Given the description of an element on the screen output the (x, y) to click on. 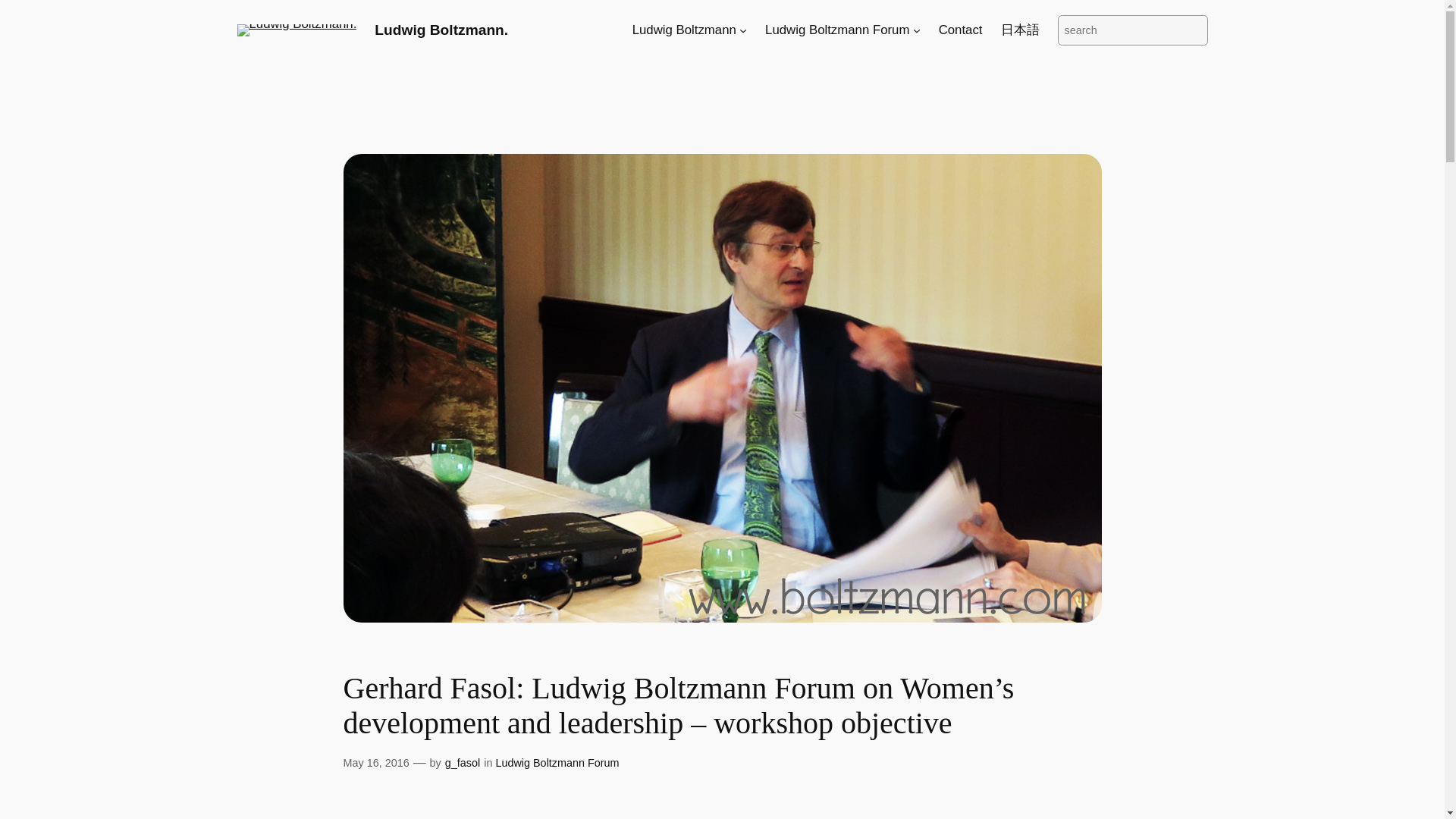
Ludwig Boltzmann (683, 30)
May 16, 2016 (375, 762)
Ludwig Boltzmann. (441, 29)
Ludwig Boltzmann Forum (556, 762)
Ludwig Boltzmann Forum (836, 30)
Contact (960, 30)
